Given the description of an element on the screen output the (x, y) to click on. 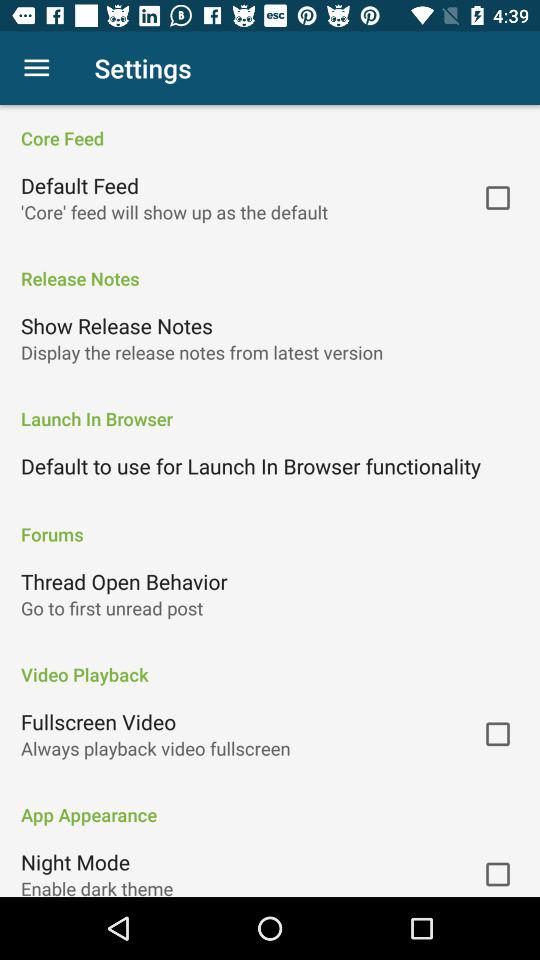
turn off the item above the release notes item (174, 211)
